Given the description of an element on the screen output the (x, y) to click on. 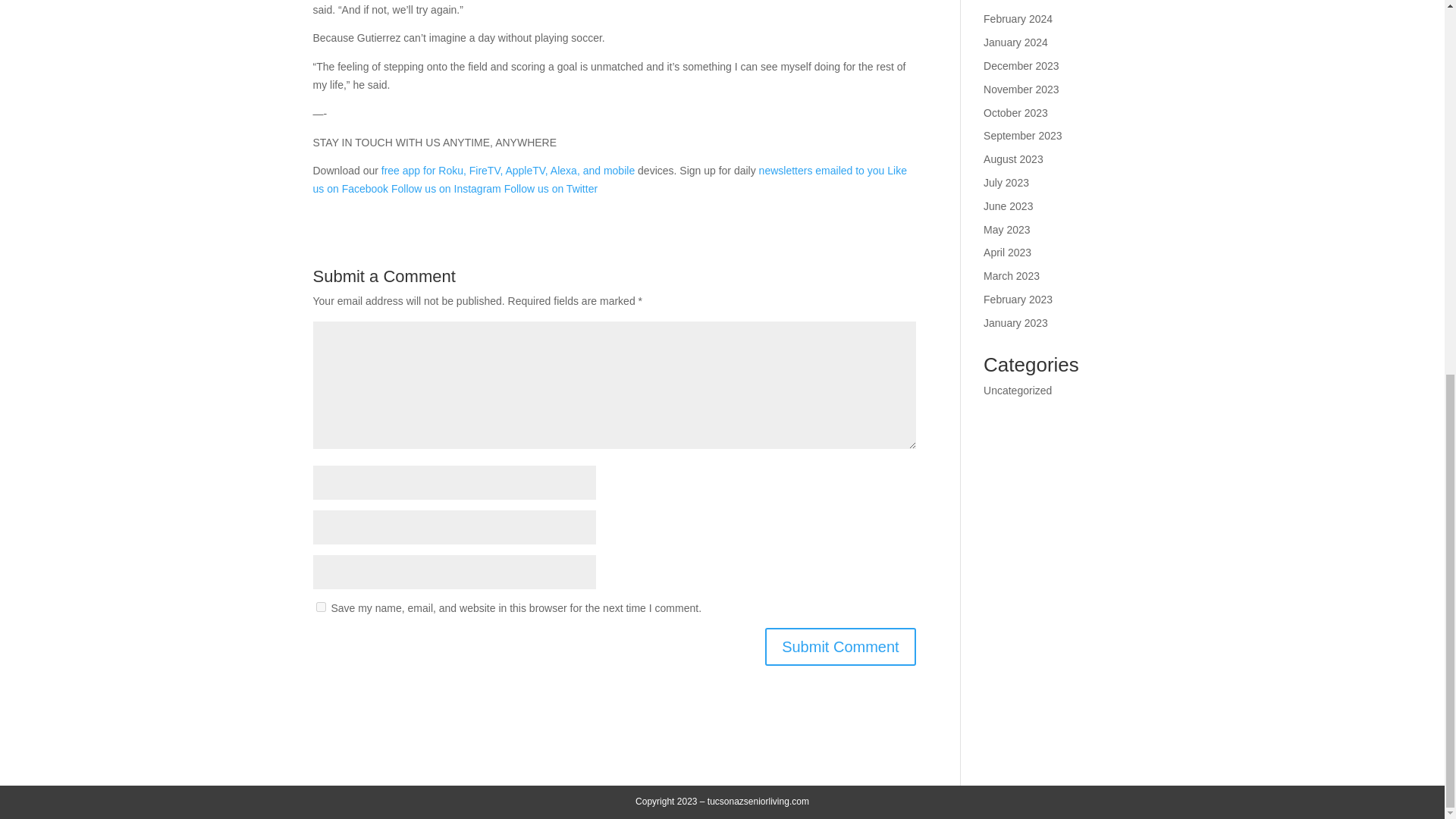
August 2023 (1013, 159)
February 2024 (1018, 19)
Like us on Facebook (609, 179)
Submit Comment (840, 646)
March 2024 (1011, 1)
Follow us on Instagram (445, 188)
April 2023 (1007, 252)
December 2023 (1021, 65)
May 2023 (1006, 229)
free app for Roku, FireTV, AppleTV, Alexa, and mobile (507, 170)
